Given the description of an element on the screen output the (x, y) to click on. 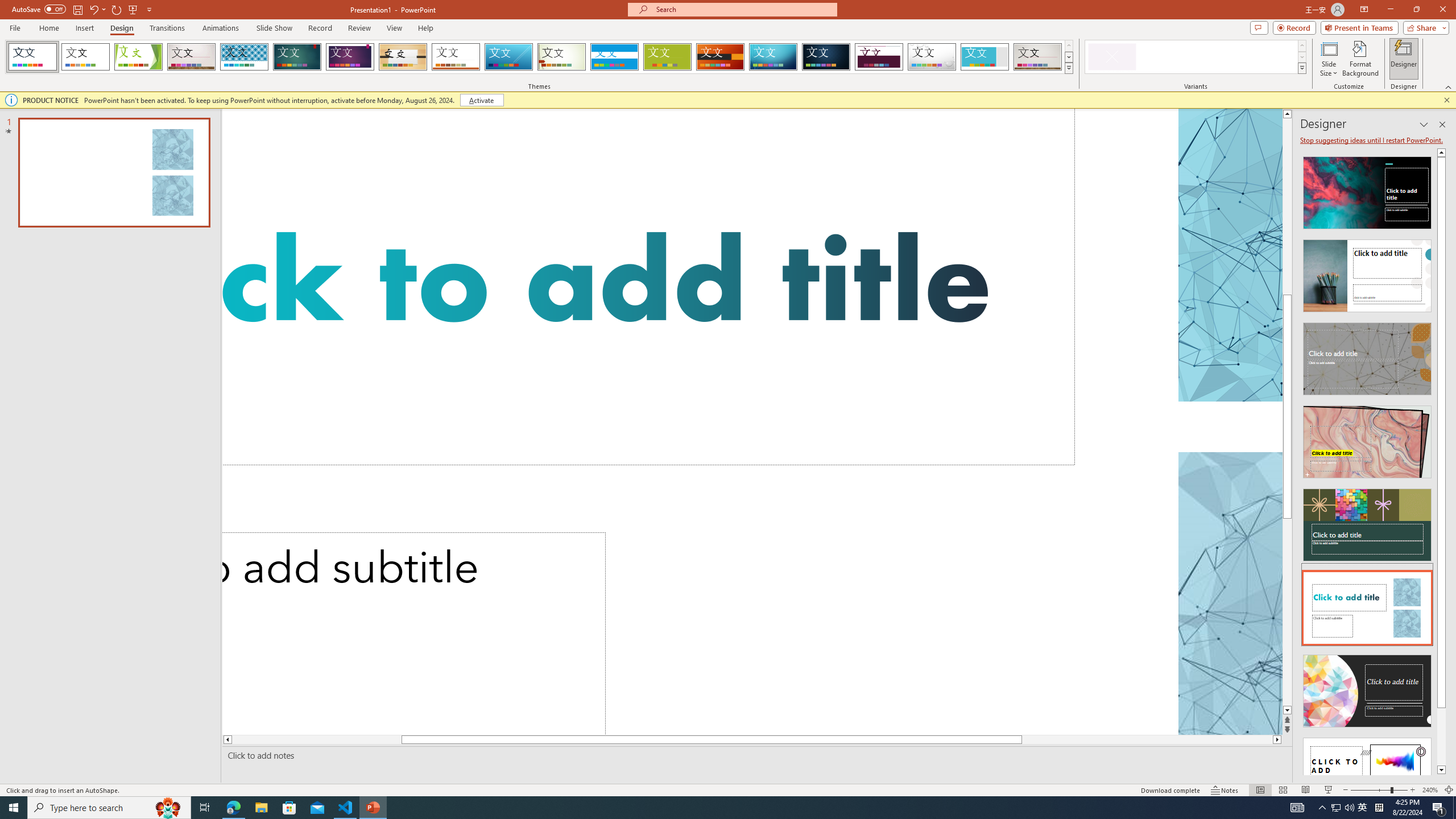
AutomationID: SlideThemesGallery (539, 56)
Turn off Designer for this session. (1372, 139)
Recommended Design: Design Idea (1366, 189)
FadeVTI (32, 56)
Gallery (1037, 56)
Zoom 240% (1430, 790)
